Given the description of an element on the screen output the (x, y) to click on. 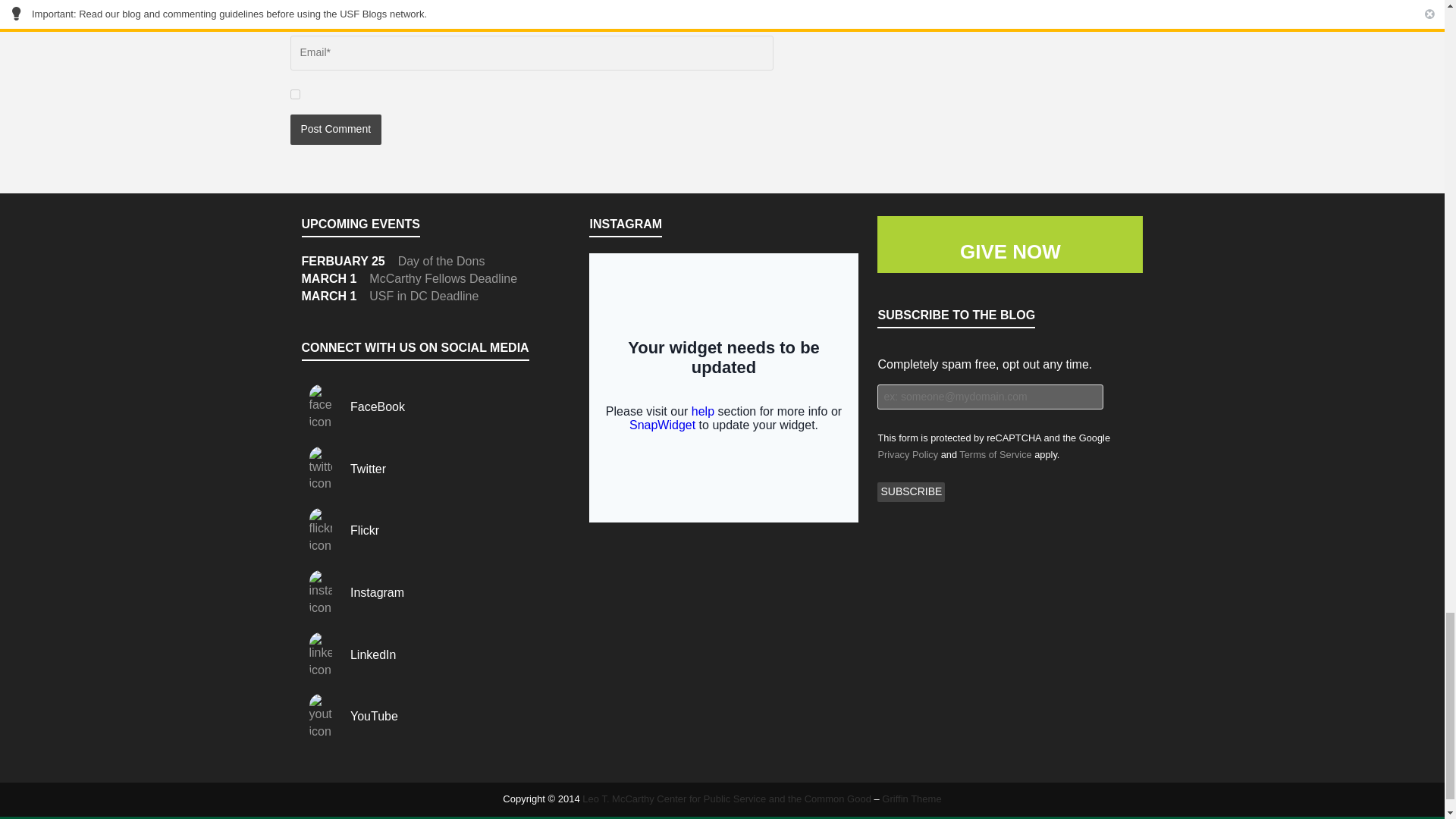
Day of the Dons (440, 260)
FaceBook (353, 406)
Post Comment (335, 129)
YouTube (349, 716)
McCarthy Fellows Deadline (442, 278)
Twitter (344, 468)
SUBSCRIBE (910, 492)
yes (294, 94)
USF in DC Deadline (424, 295)
Post Comment (335, 129)
